Given the description of an element on the screen output the (x, y) to click on. 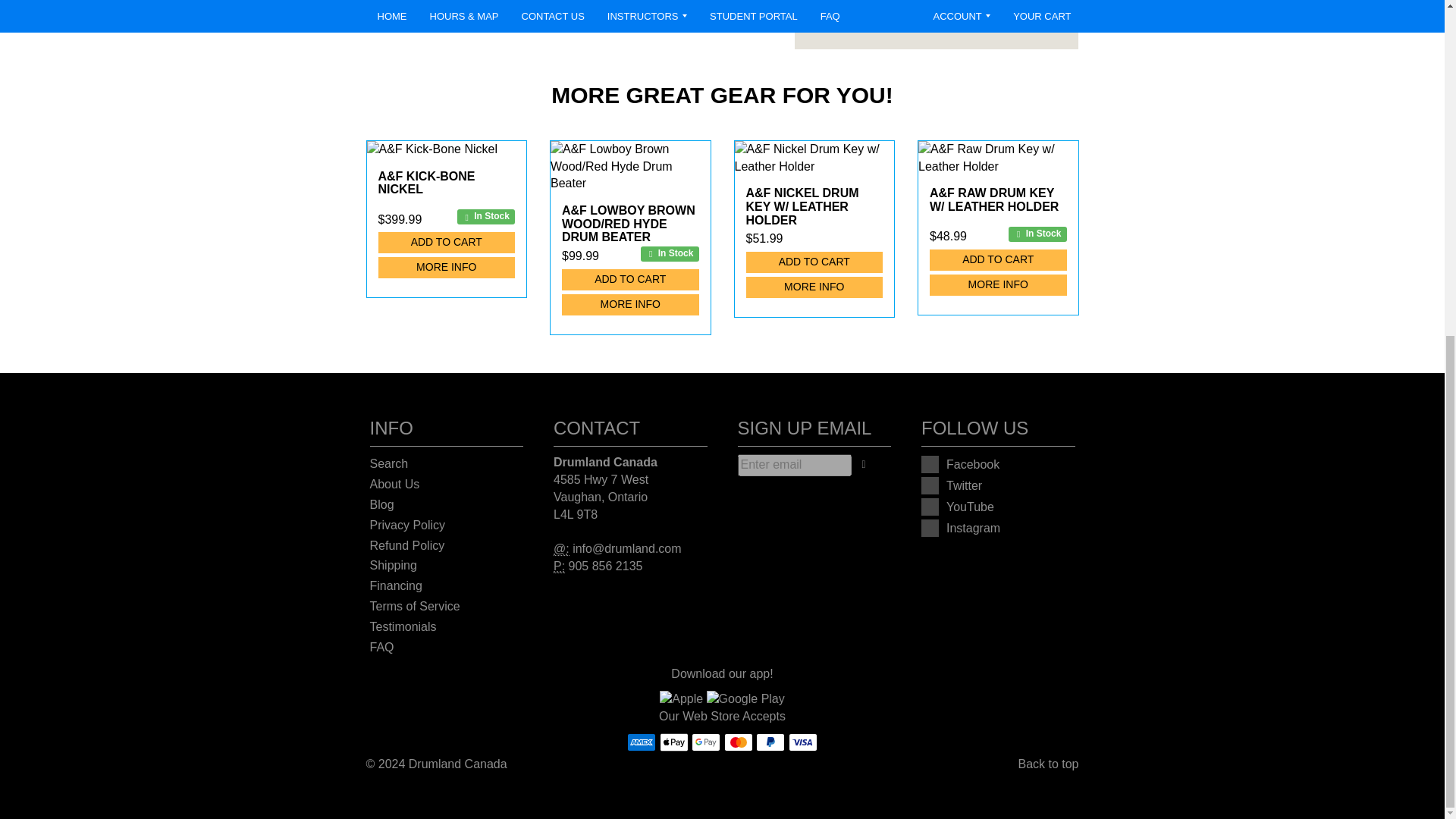
American Express (641, 742)
Email (561, 549)
Google Pay (705, 742)
Apple Pay (673, 742)
Visa (802, 742)
PayPal (769, 742)
Mastercard (737, 742)
